Given the description of an element on the screen output the (x, y) to click on. 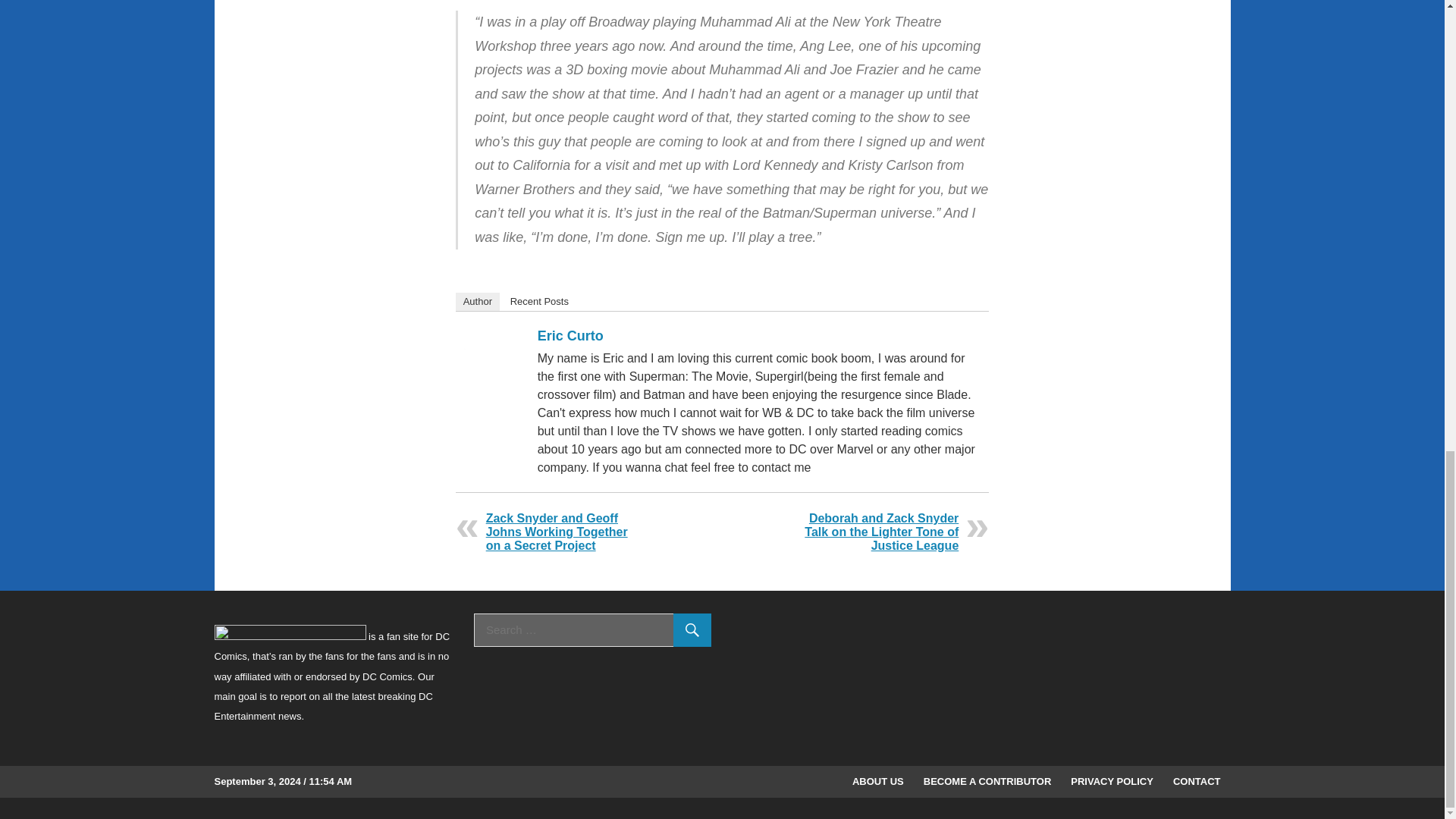
Twitter (969, 339)
Eric Curto (570, 335)
CYBORG (480, 577)
Search for: (592, 630)
Author (477, 301)
Recent Posts (539, 301)
Facebook (949, 339)
